Given the description of an element on the screen output the (x, y) to click on. 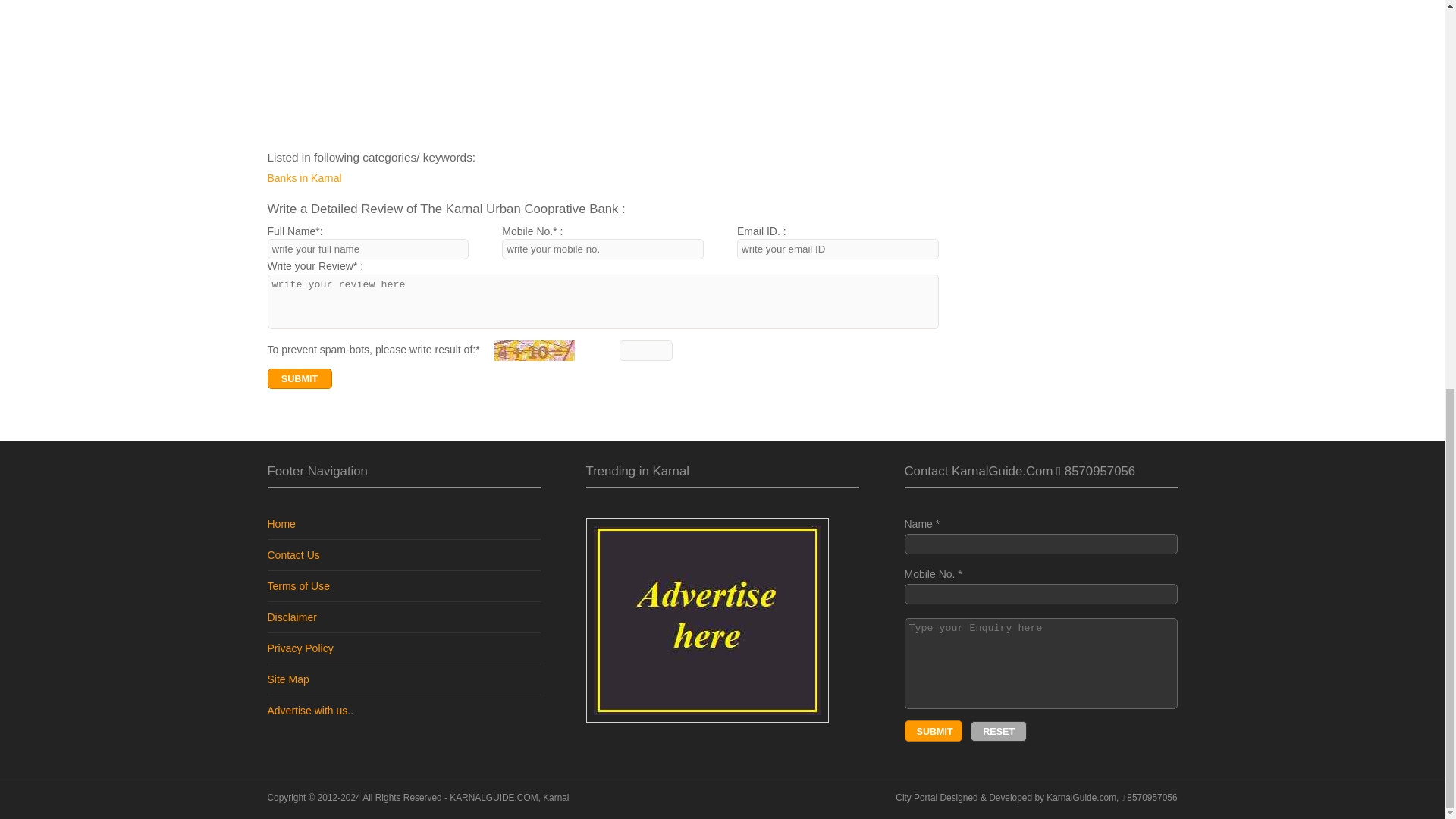
Privacy Policy (299, 648)
Contact Us (292, 554)
Reset (998, 731)
Submit (932, 731)
Terms of Use (297, 585)
Home (280, 523)
Site Map (287, 679)
Banks in Karnal (367, 178)
Disclaimer (290, 616)
Submit (298, 378)
Advertise with us (306, 710)
